Given the description of an element on the screen output the (x, y) to click on. 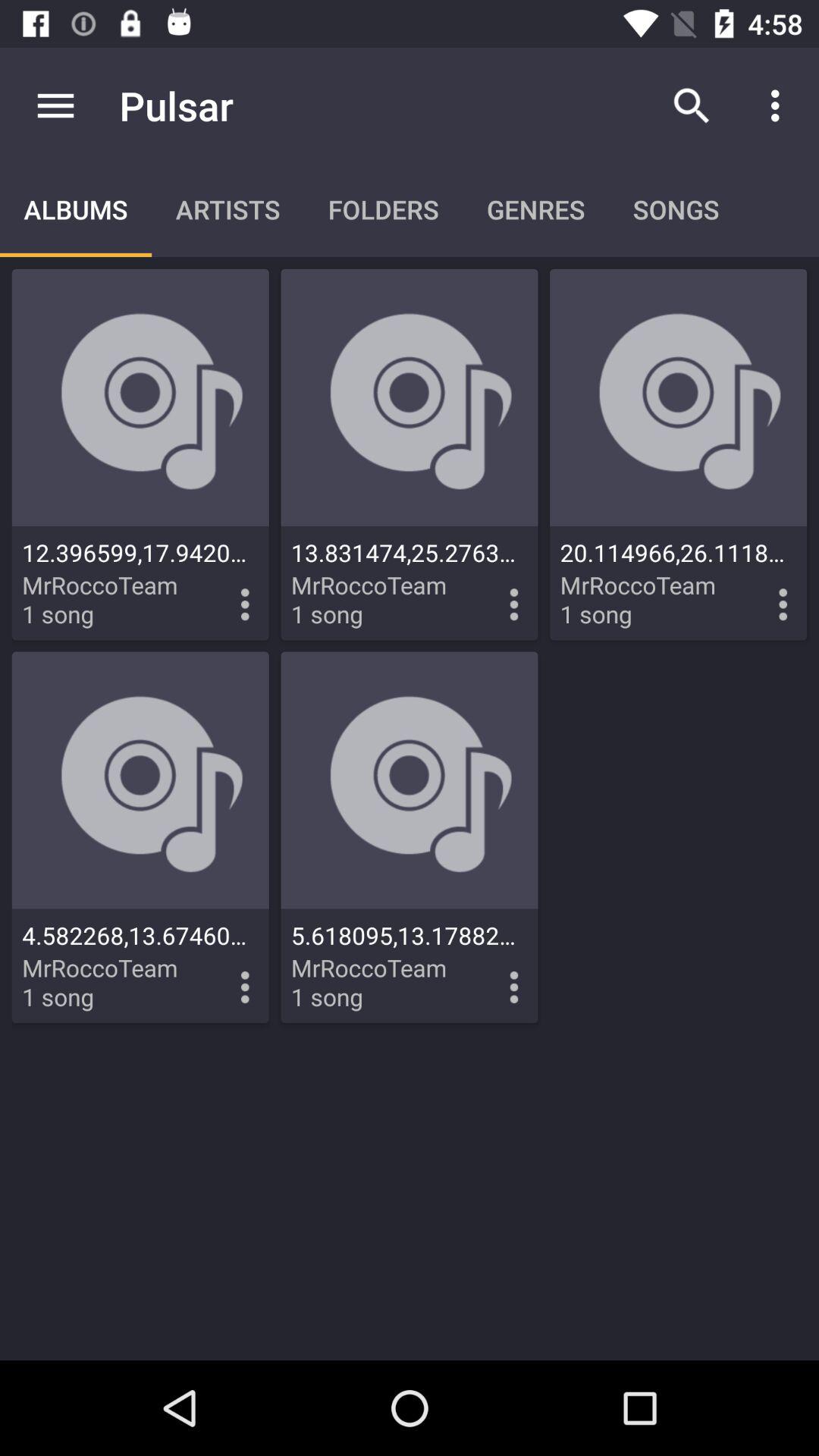
click app to the left of pulsar (55, 105)
